Given the description of an element on the screen output the (x, y) to click on. 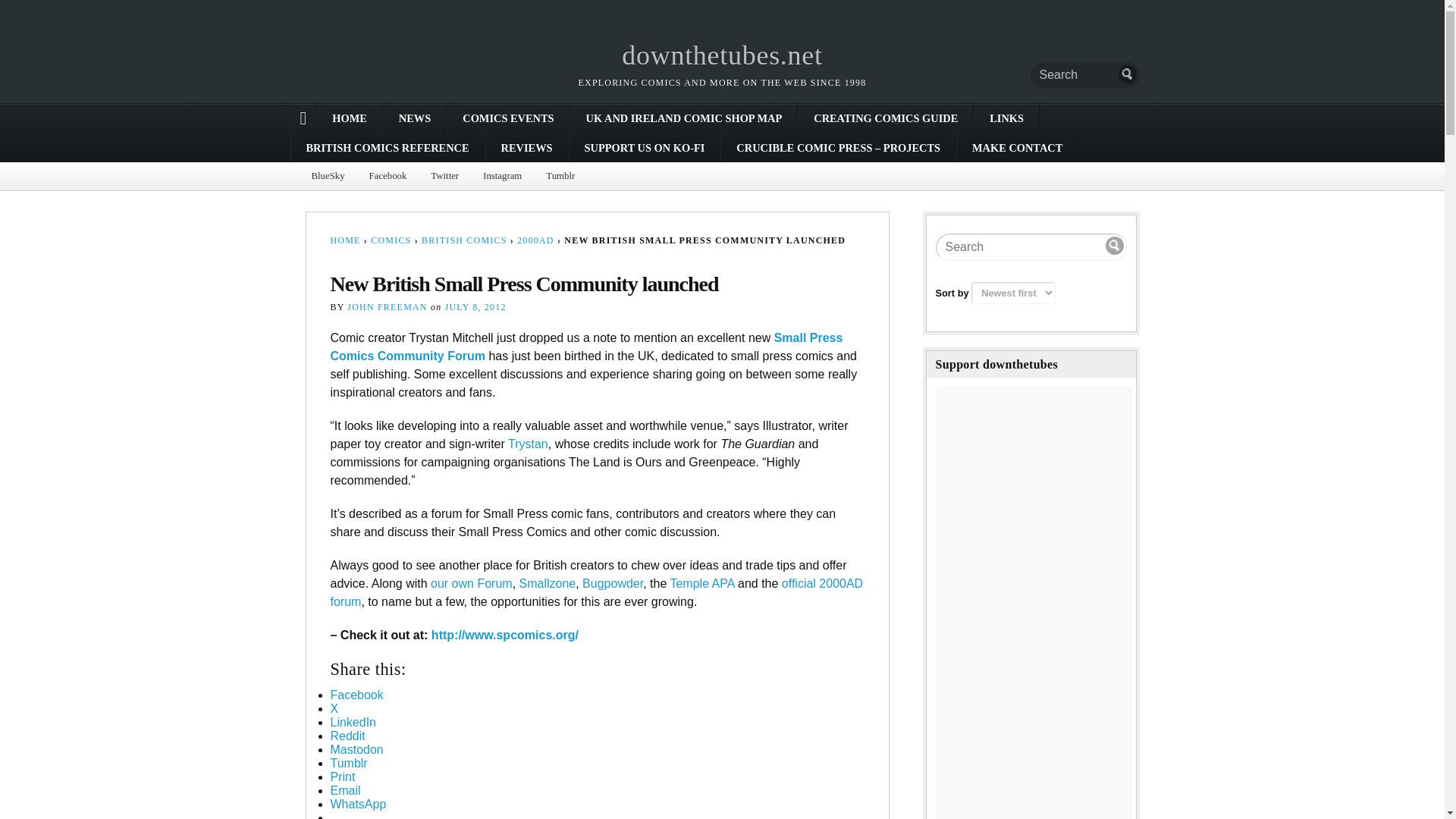
BRITISH COMICS REFERENCE (387, 147)
COMICS EVENTS (507, 118)
LINKS (1006, 118)
downthetubes.net (721, 55)
7:11 am (475, 307)
HOME (349, 118)
Click to share on LinkedIn (353, 721)
CREATING COMICS GUIDE (884, 118)
View all posts by John Freeman (386, 307)
Home (721, 55)
